Given the description of an element on the screen output the (x, y) to click on. 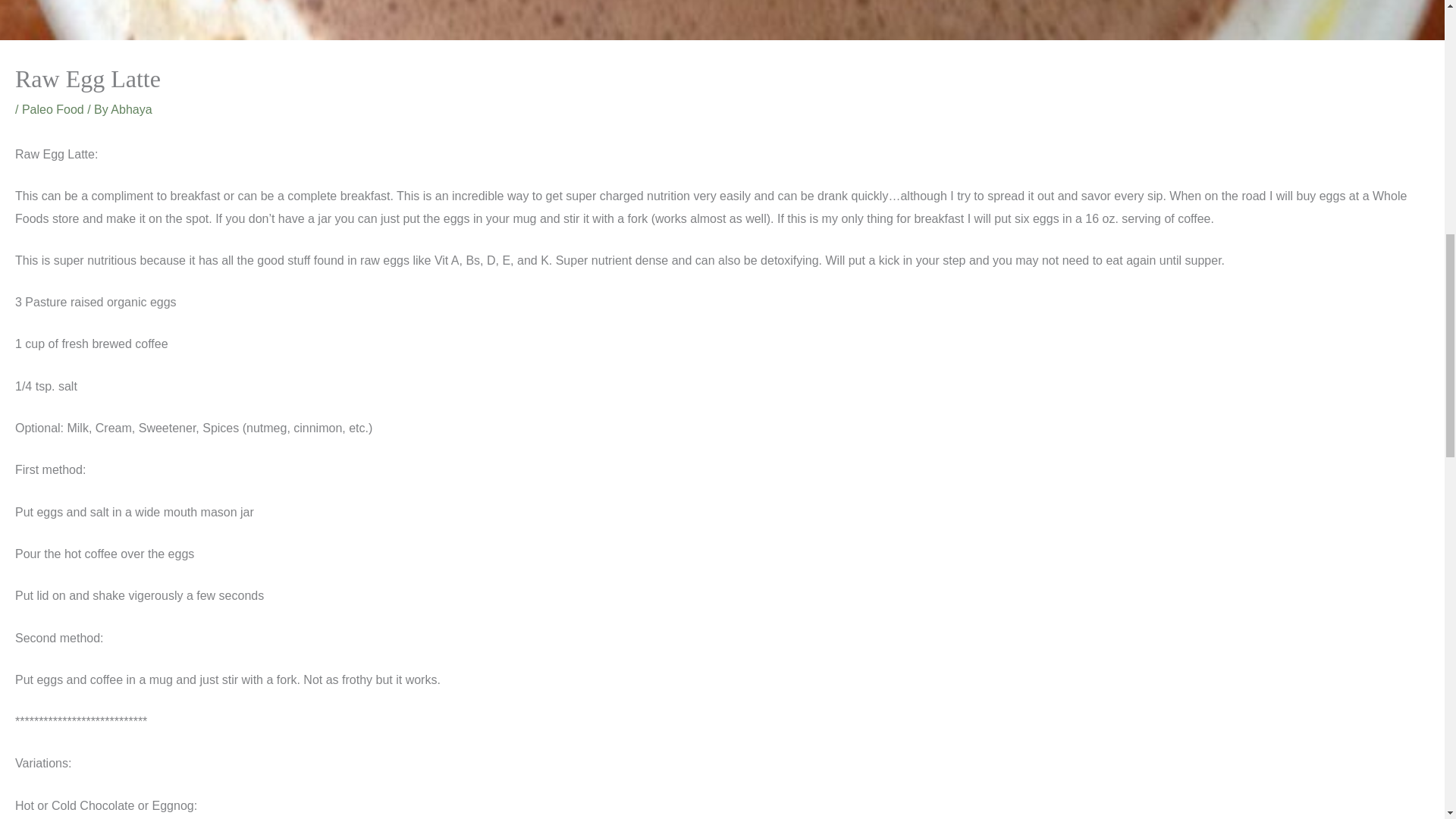
View all posts by Abhaya (130, 109)
